Given the description of an element on the screen output the (x, y) to click on. 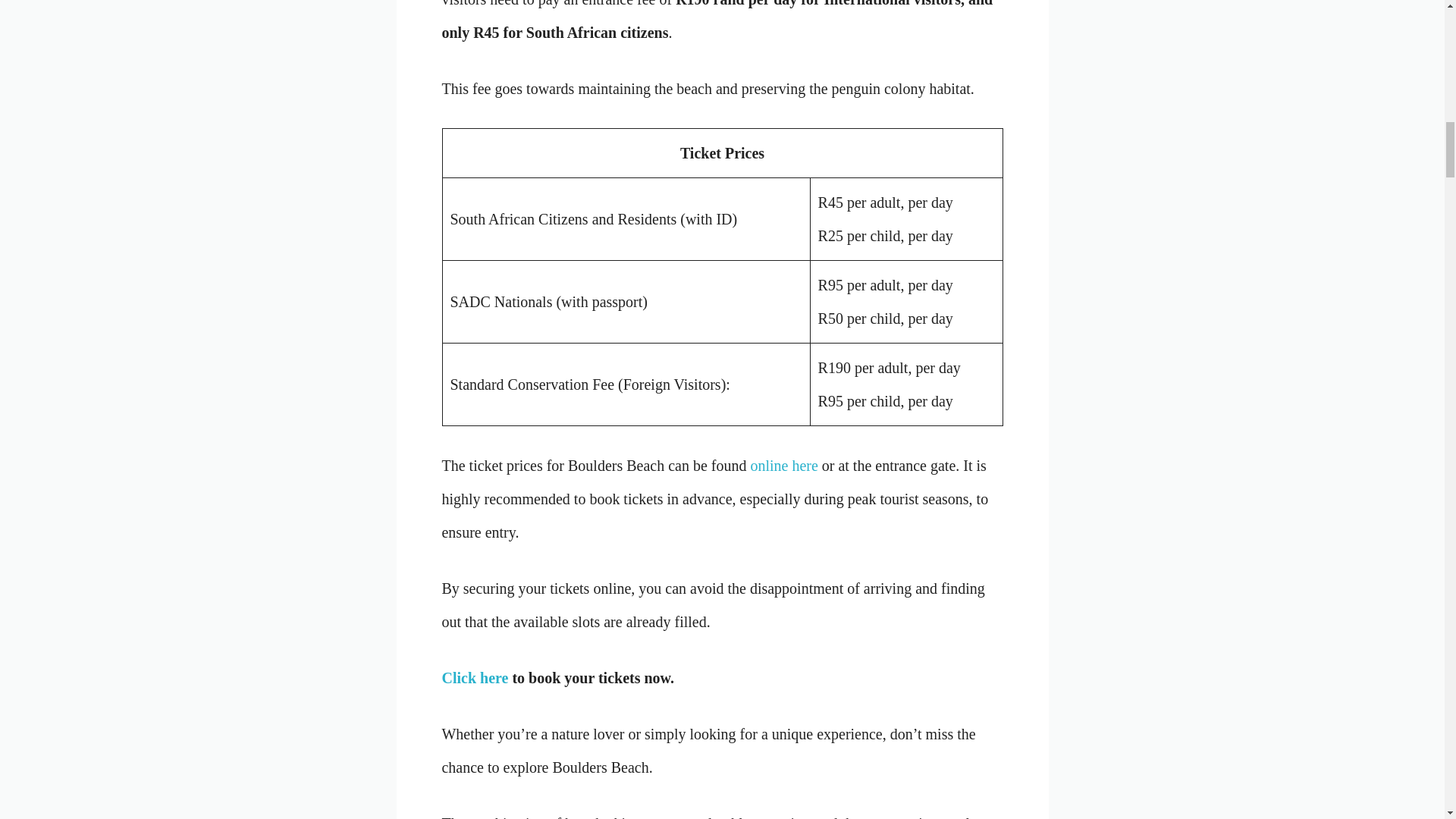
Click here (474, 677)
online here (782, 465)
